Given the description of an element on the screen output the (x, y) to click on. 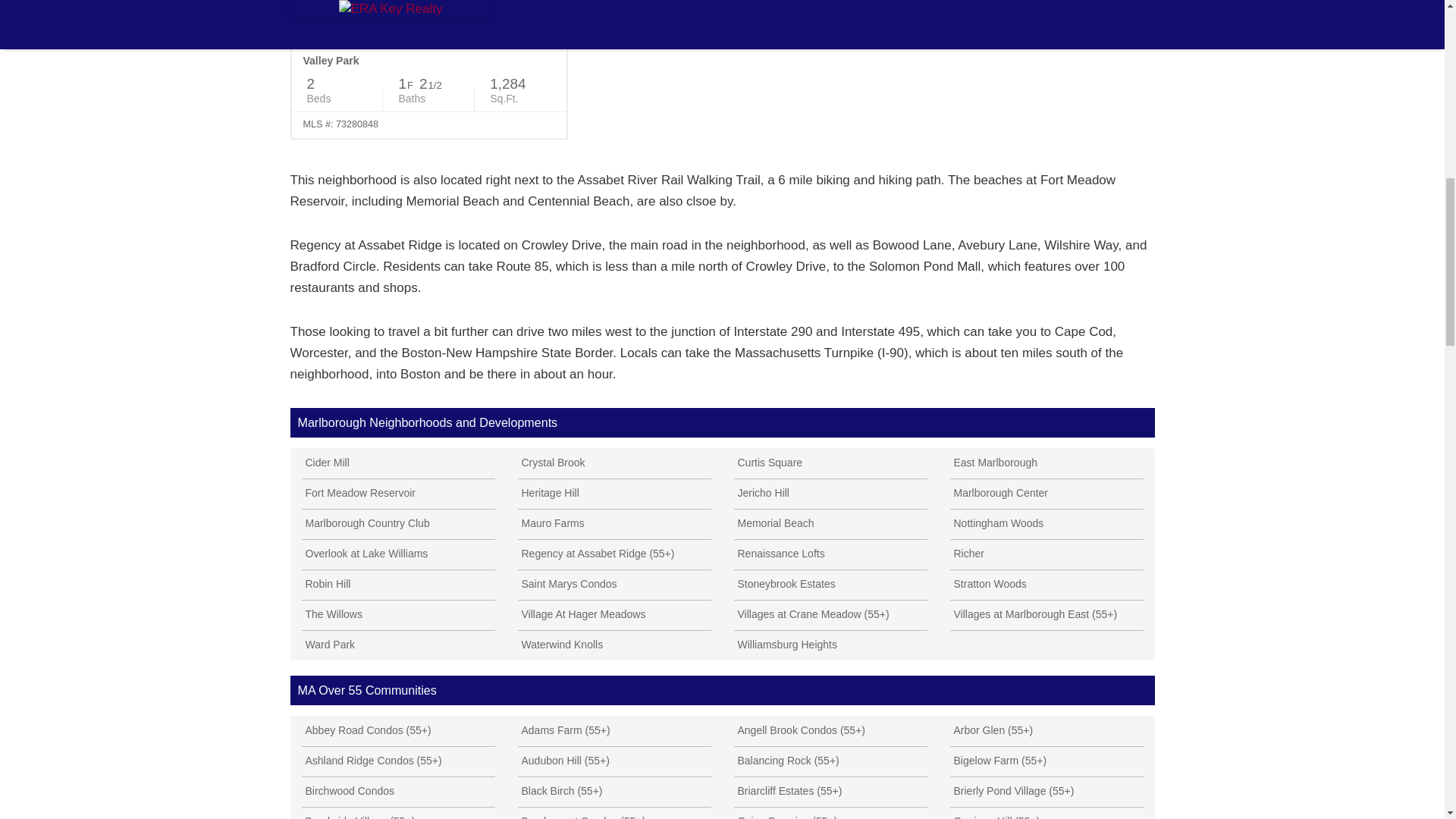
View Curtis Square (830, 463)
View East Marlborough (1045, 463)
View Cider Mill (398, 463)
View Crystal Brook (613, 463)
View Heritage Hill (613, 493)
View Fort Meadow Reservoir (398, 493)
